Given the description of an element on the screen output the (x, y) to click on. 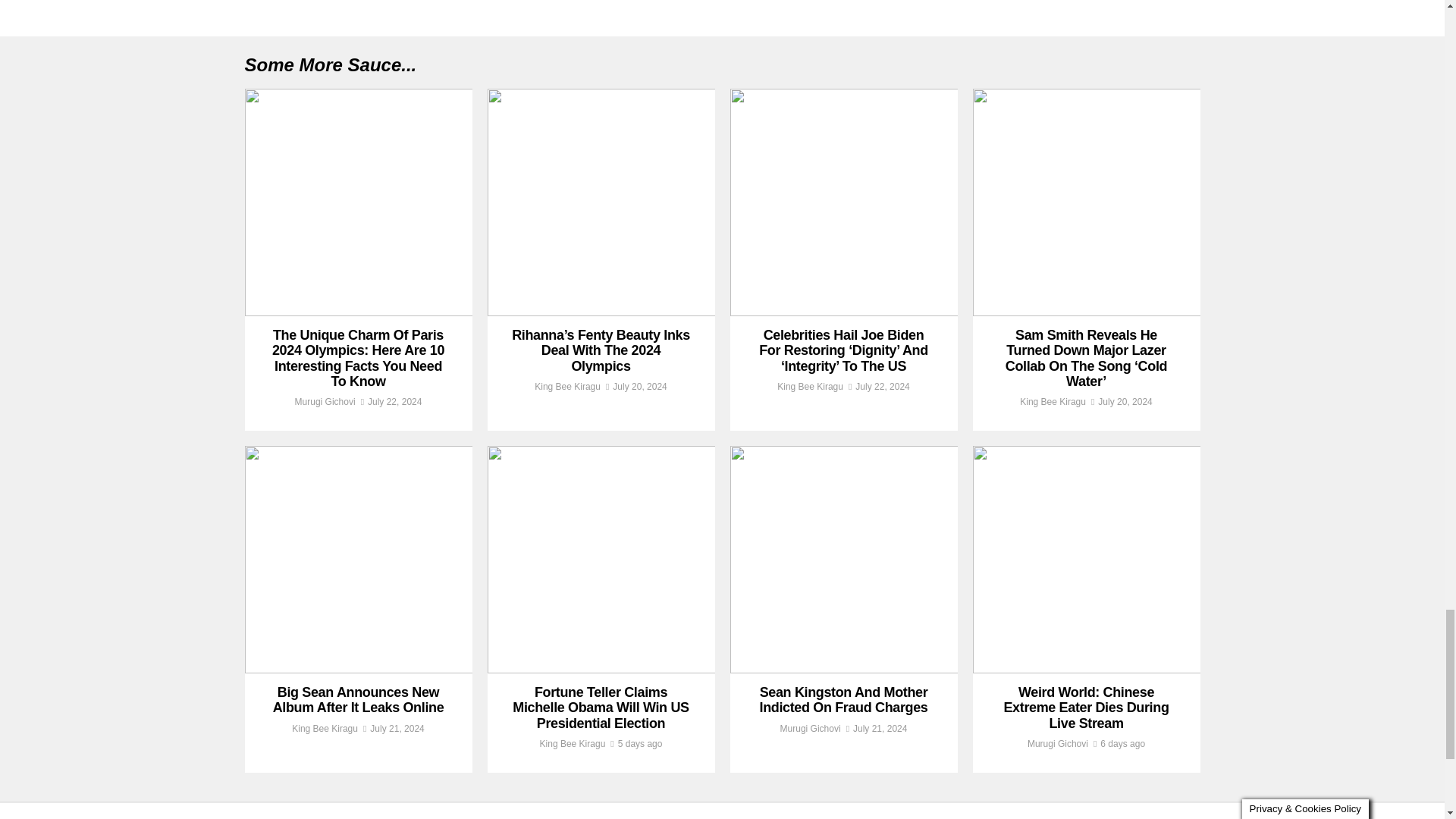
3rd party ad content (1085, 2)
Posts by Murugi Gichovi (325, 401)
Posts by King Bee Kiragu (566, 386)
